Given the description of an element on the screen output the (x, y) to click on. 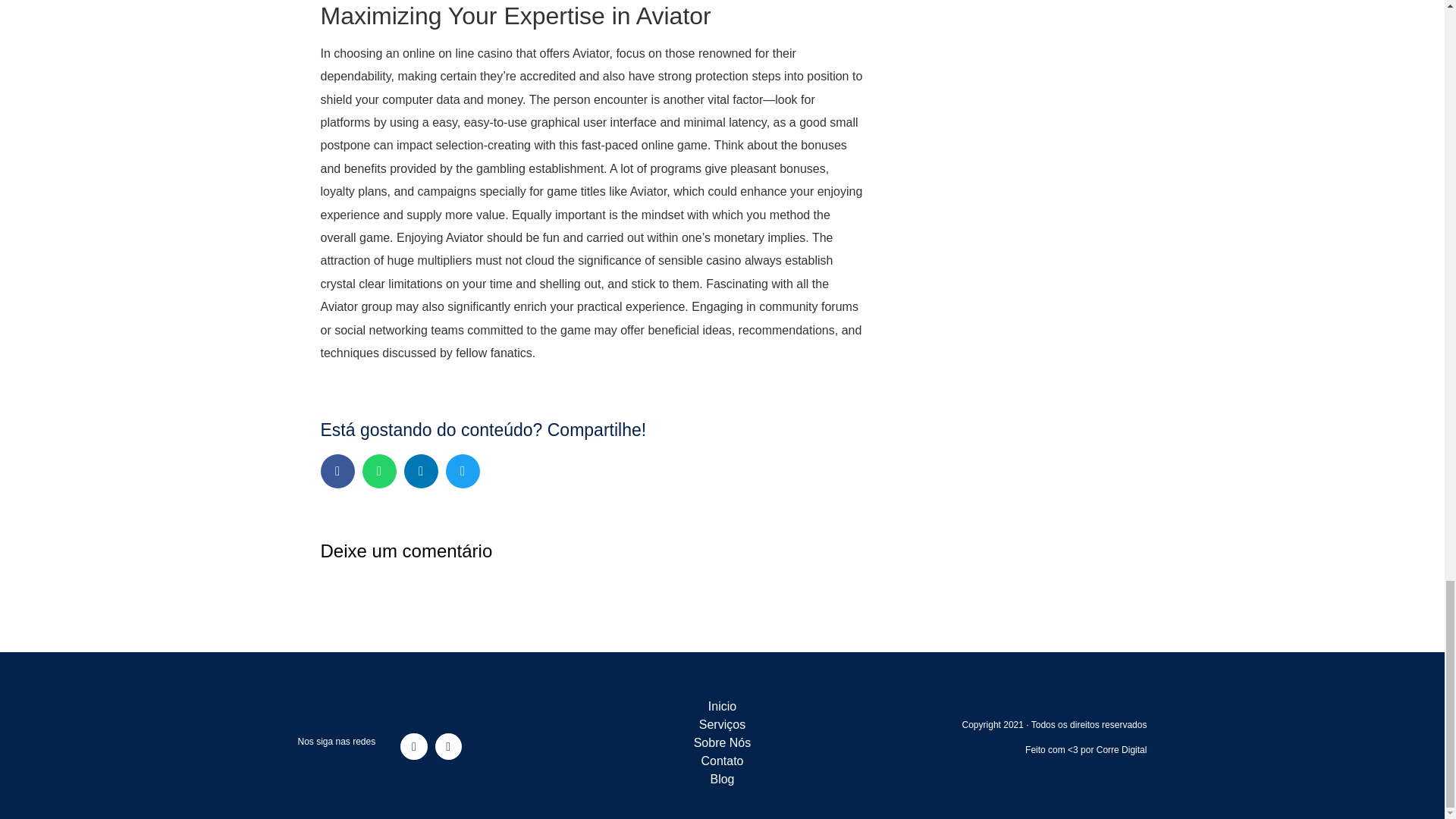
Contato (722, 761)
Inicio (722, 706)
Blog (722, 779)
